Given the description of an element on the screen output the (x, y) to click on. 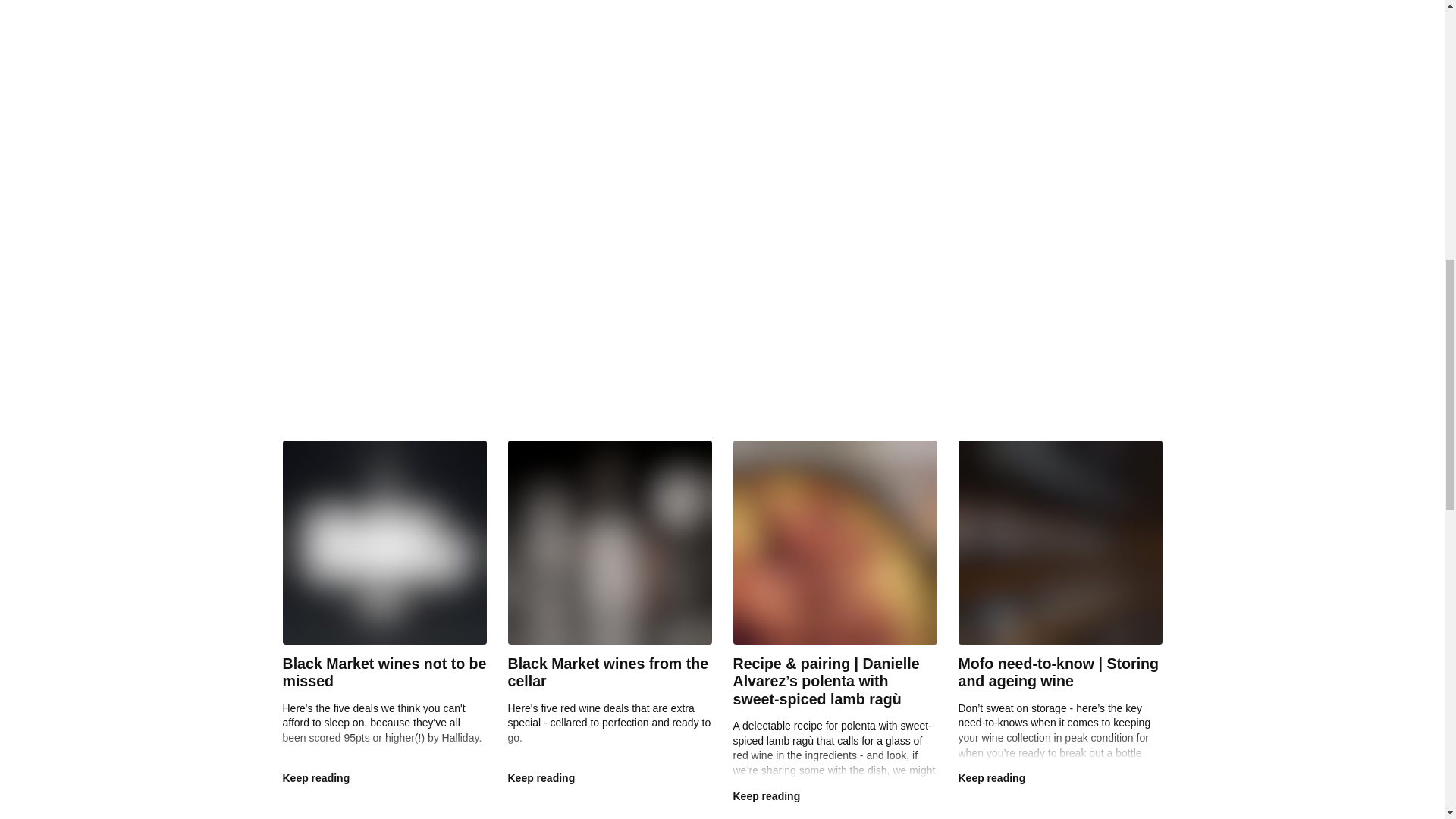
Keep reading (315, 777)
Black Market wines not to be missed (384, 672)
Keep reading (765, 796)
Keep reading (992, 777)
Keep reading (541, 777)
Black Market wines from the cellar (608, 672)
